Given the description of an element on the screen output the (x, y) to click on. 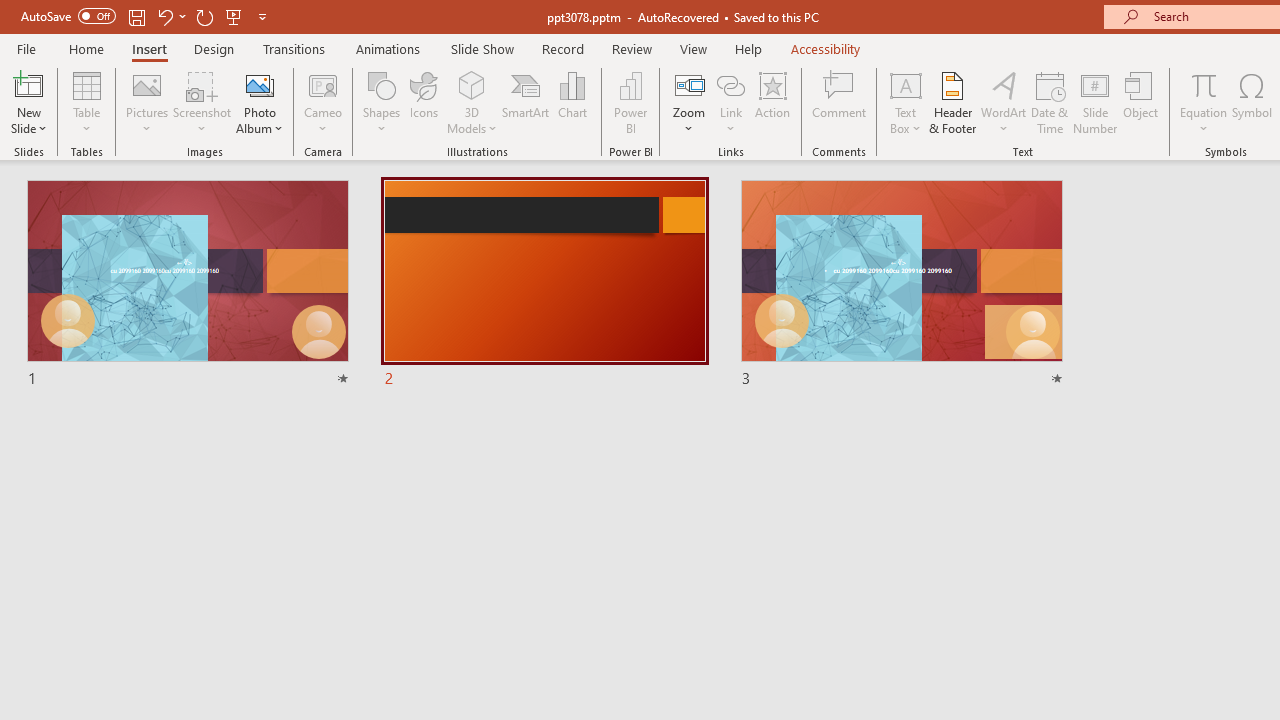
New Slide (28, 102)
Photo Album... (259, 102)
Accessibility (825, 48)
Screenshot (202, 102)
Shapes (381, 102)
Header & Footer... (952, 102)
Draw Horizontal Text Box (905, 84)
Review (631, 48)
Equation (1203, 102)
Symbol... (1252, 102)
Customize Quick Access Toolbar (262, 15)
Text Box (905, 102)
